Given the description of an element on the screen output the (x, y) to click on. 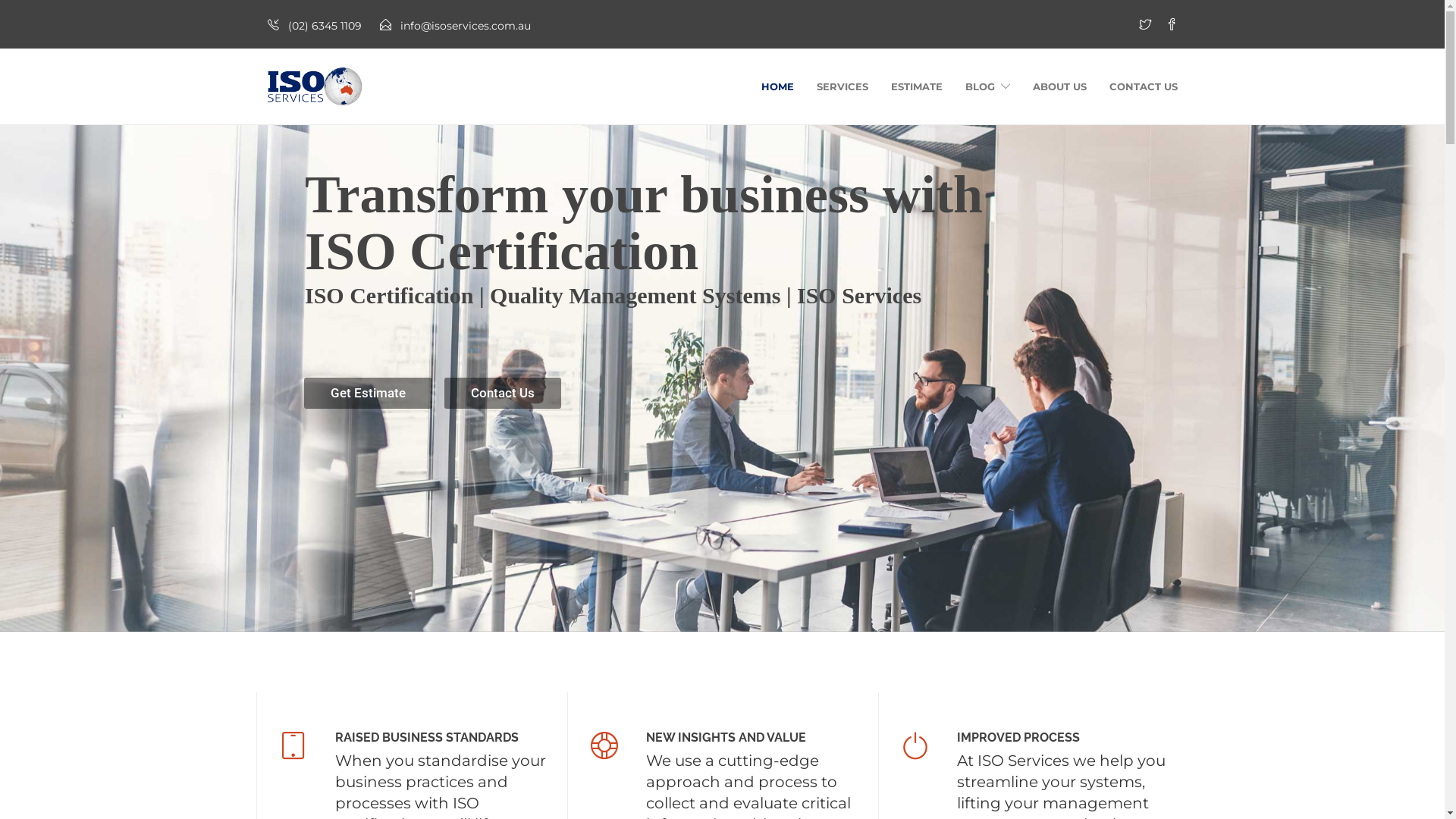
ABOUT US Element type: text (1059, 86)
SERVICES Element type: text (841, 86)
BLOG Element type: text (986, 86)
ESTIMATE Element type: text (915, 86)
HOME Element type: text (777, 86)
CONTACT US Element type: text (1142, 86)
